Given the description of an element on the screen output the (x, y) to click on. 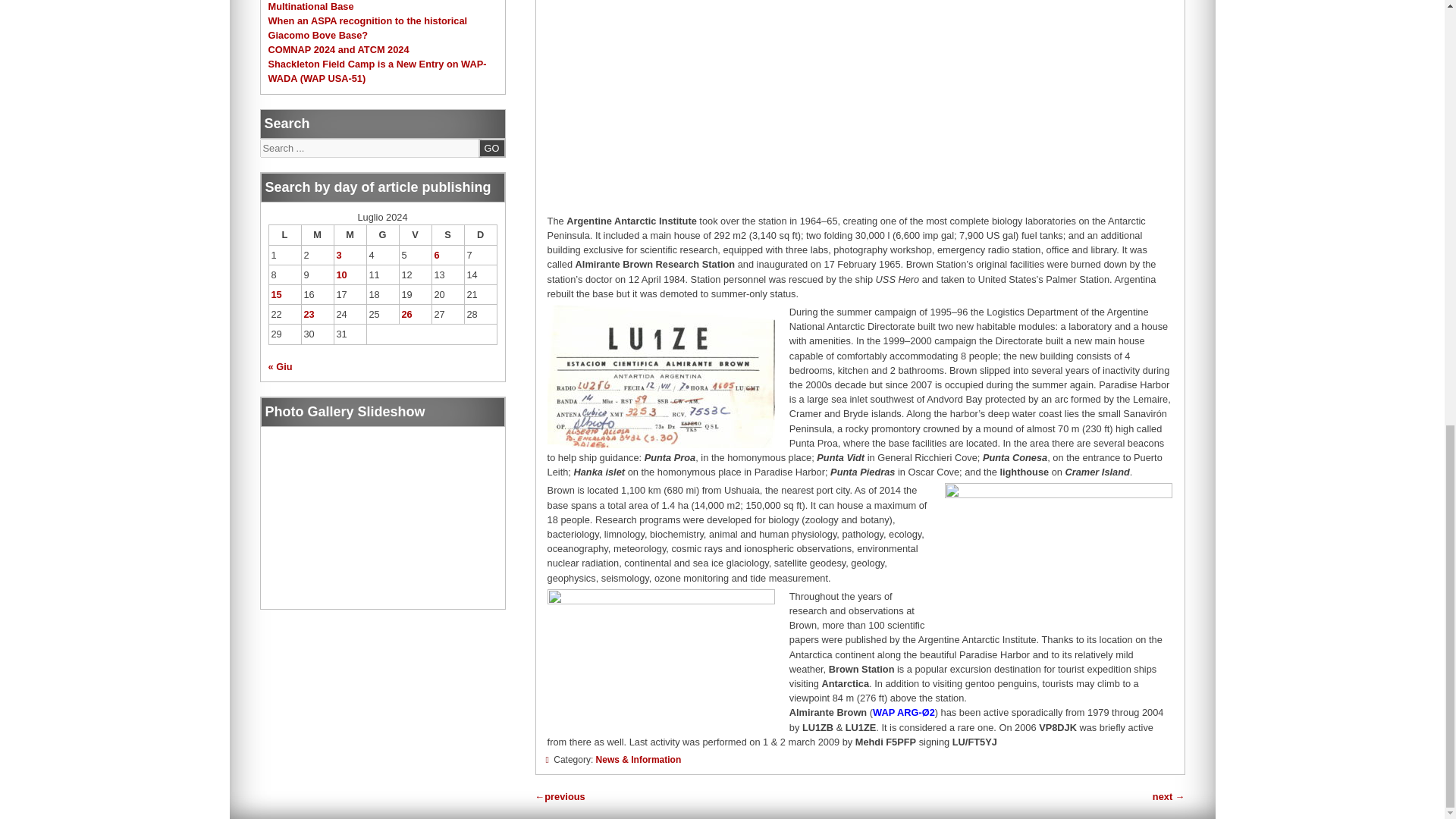
domenica (480, 234)
GO (492, 148)
GO (492, 148)
sabato (447, 234)
